Given the description of an element on the screen output the (x, y) to click on. 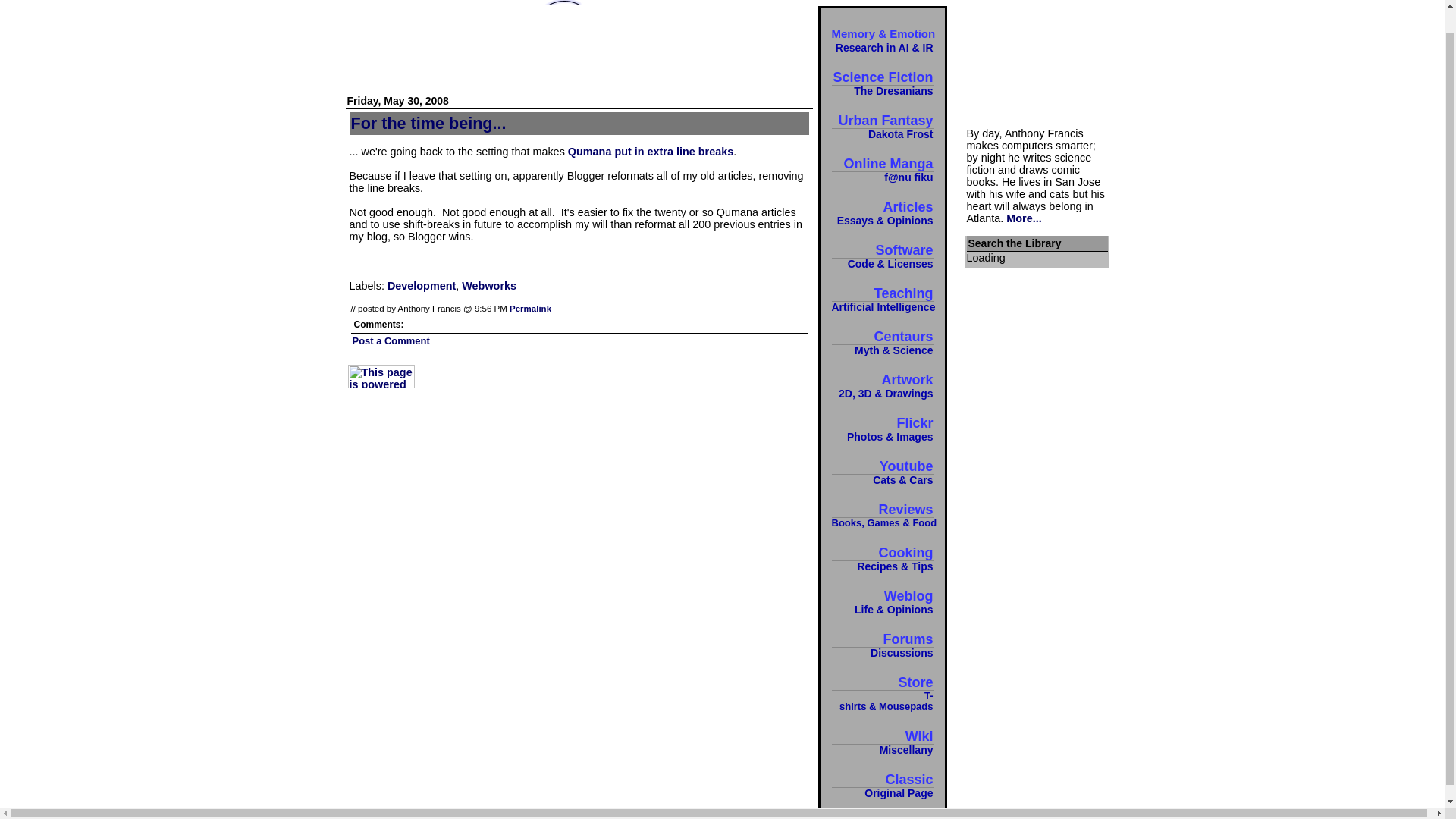
Permalink (882, 741)
Qumana put in extra line breaks (882, 298)
For the time being... (530, 307)
permanent link (650, 151)
More... (427, 122)
Post a Comment (530, 307)
permanent link (1023, 218)
